Given the description of an element on the screen output the (x, y) to click on. 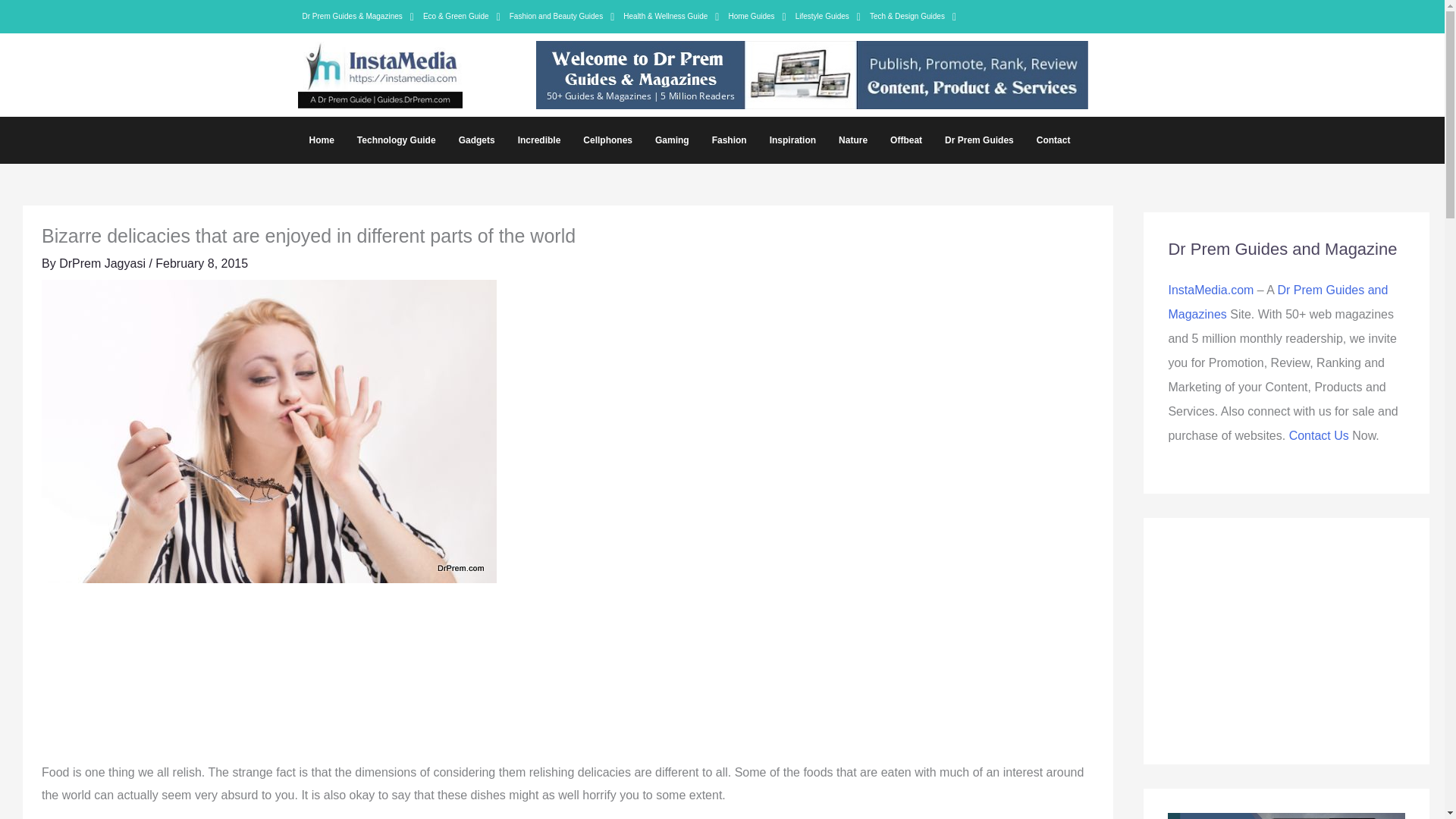
Home Guides (756, 16)
Lifestyle Guides (827, 16)
View all posts by DrPrem Jagyasi (103, 263)
Fashion and Beauty Guides (562, 16)
